Given the description of an element on the screen output the (x, y) to click on. 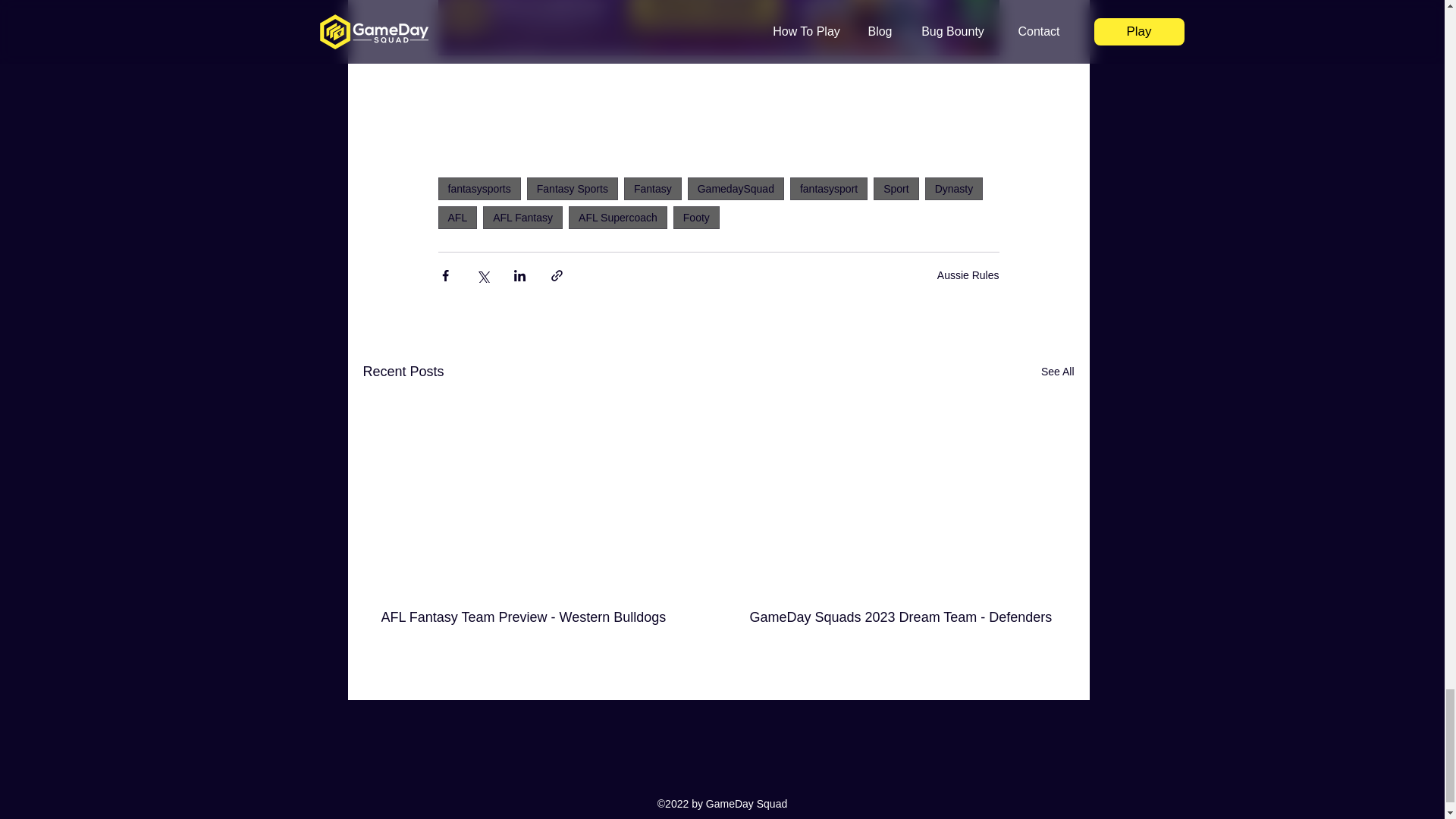
AFL Fantasy (522, 217)
Footy (695, 217)
AFL Fantasy Team Preview - Western Bulldogs (533, 617)
See All (1057, 372)
Sport (895, 188)
fantasysport (828, 188)
GamedaySquad (735, 188)
AFL Supercoach (617, 217)
Dynasty (954, 188)
Fantasy (652, 188)
